Given the description of an element on the screen output the (x, y) to click on. 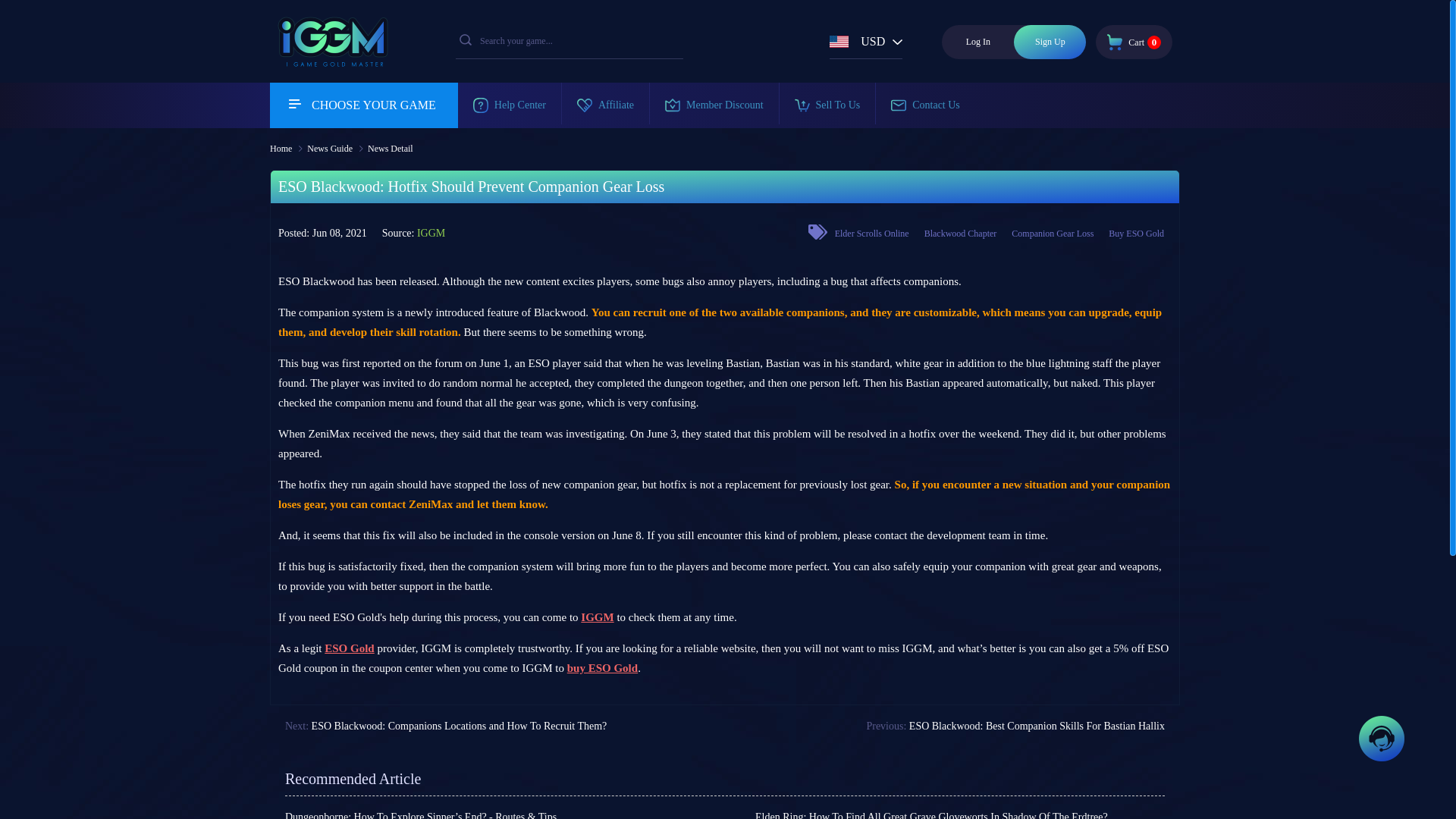
Blackwood Chapter (960, 233)
Elder Scrolls Online (872, 233)
Companion Gear Loss (1052, 233)
Buy ESO Gold (1136, 233)
Log In (977, 41)
IGGM (328, 60)
Sign Up (1134, 41)
